Given the description of an element on the screen output the (x, y) to click on. 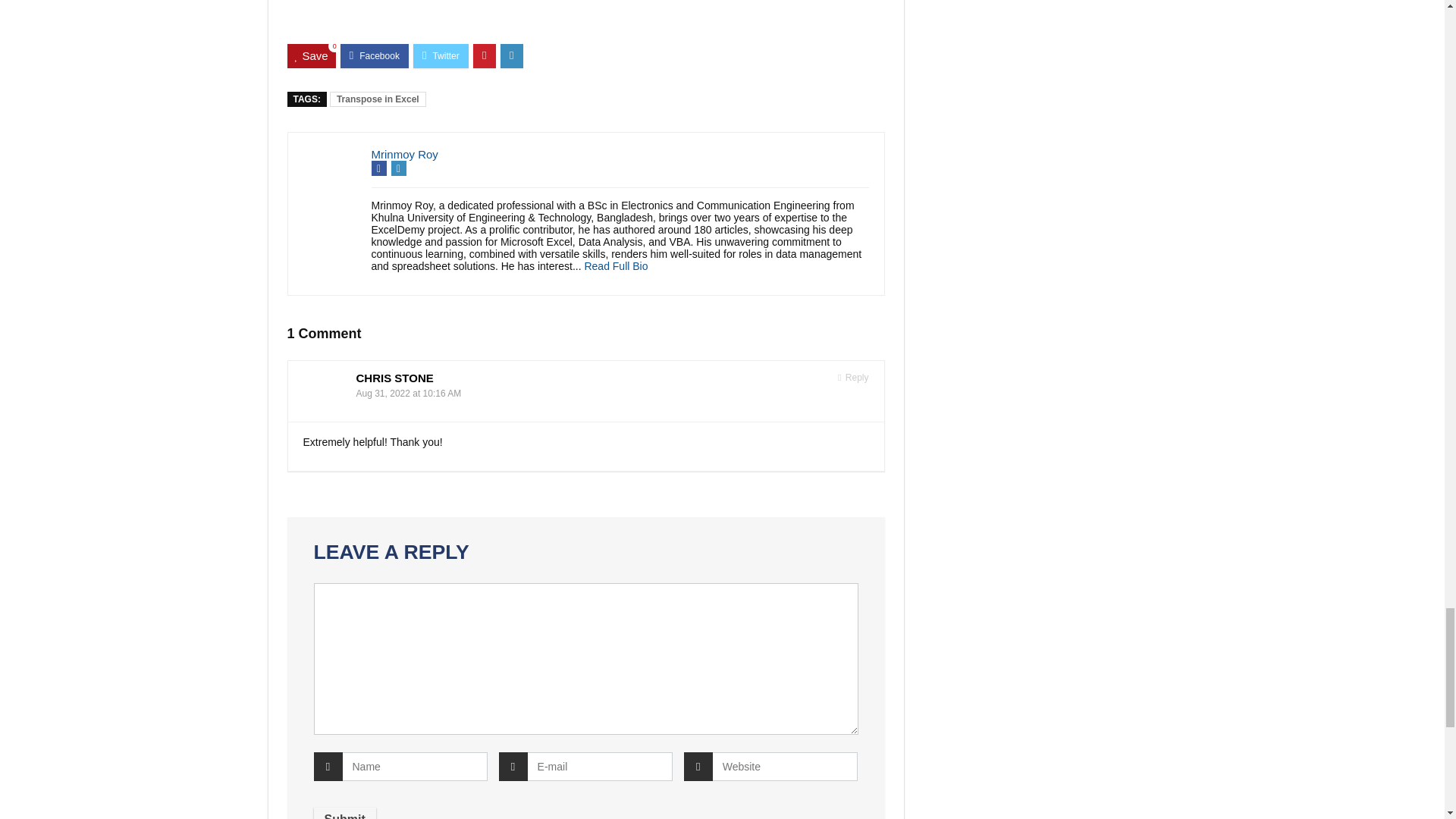
Submit (344, 813)
